Given the description of an element on the screen output the (x, y) to click on. 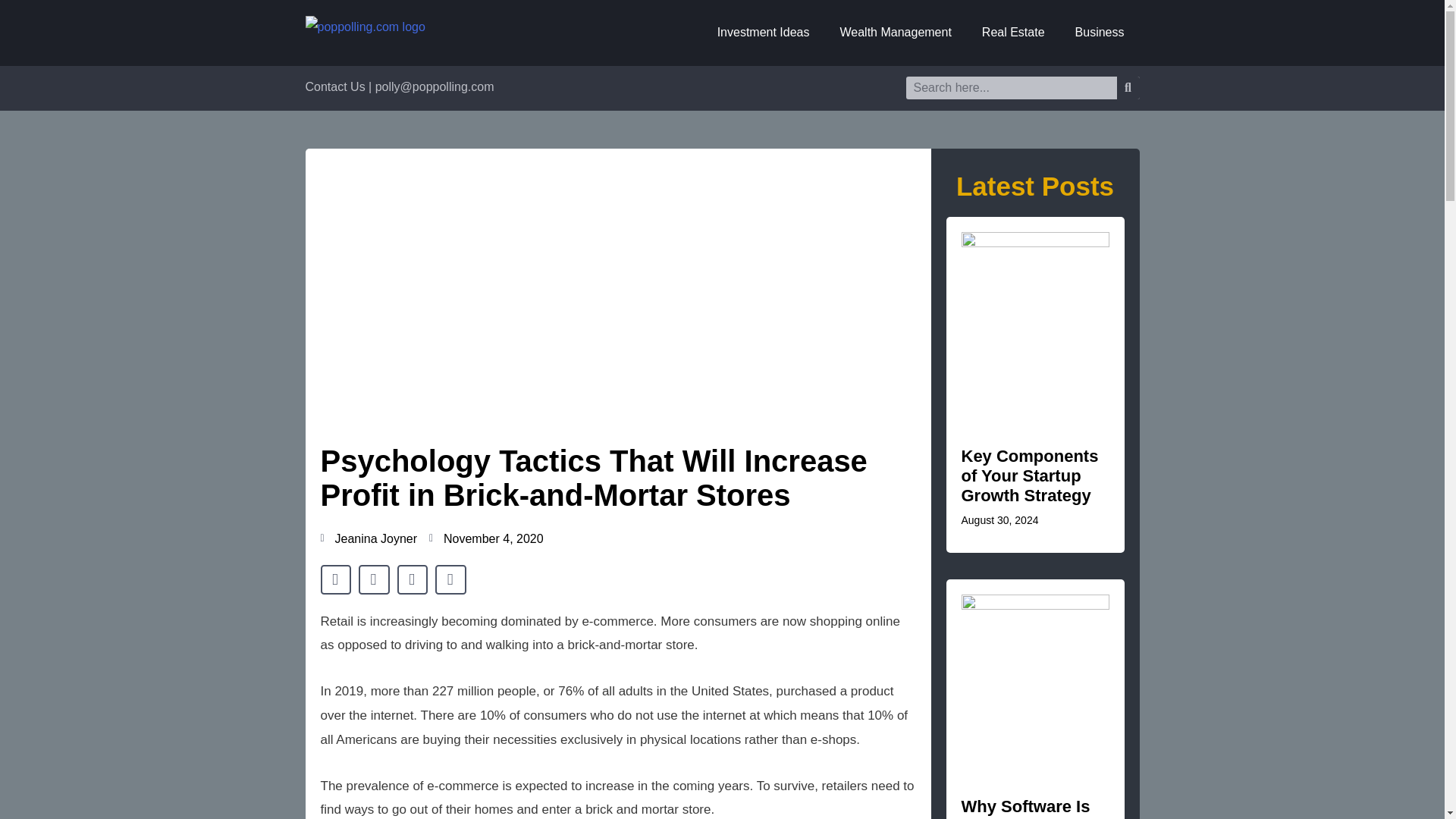
Why Software Is Important in the Automotive Industry (1025, 807)
Search (1127, 87)
Jeanina Joyner (368, 538)
Real Estate (1012, 32)
Wealth Management (895, 32)
Investment Ideas (763, 32)
Key Components of Your Startup Growth Strategy (1029, 475)
Business (1099, 32)
November 4, 2020 (486, 538)
